Given the description of an element on the screen output the (x, y) to click on. 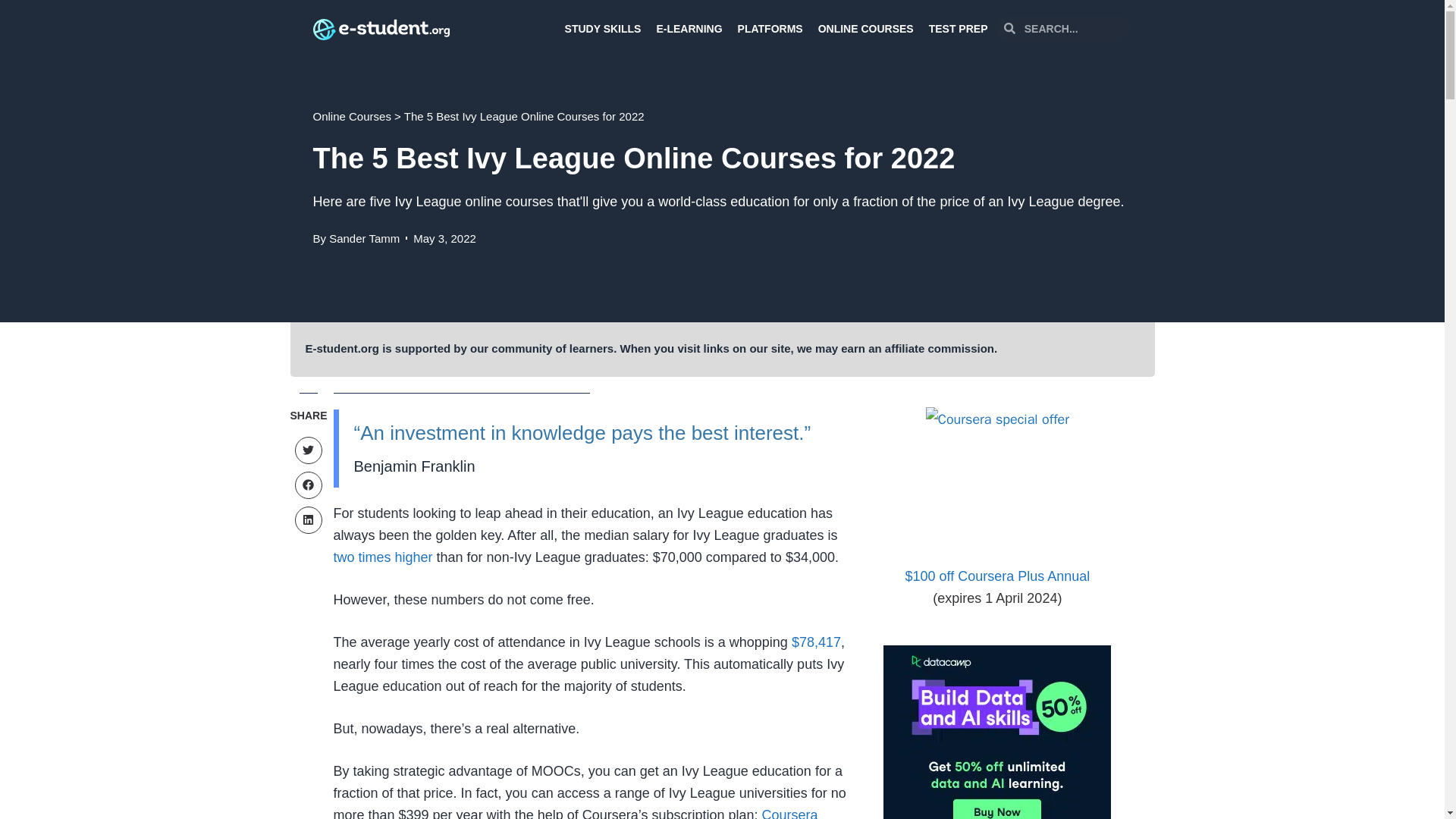
STUDY SKILLS (603, 28)
E-LEARNING (688, 28)
PLATFORMS (770, 28)
Coursera - Special Offer (997, 477)
DataCamp (996, 732)
Coursera - Special Offer (996, 575)
